Given the description of an element on the screen output the (x, y) to click on. 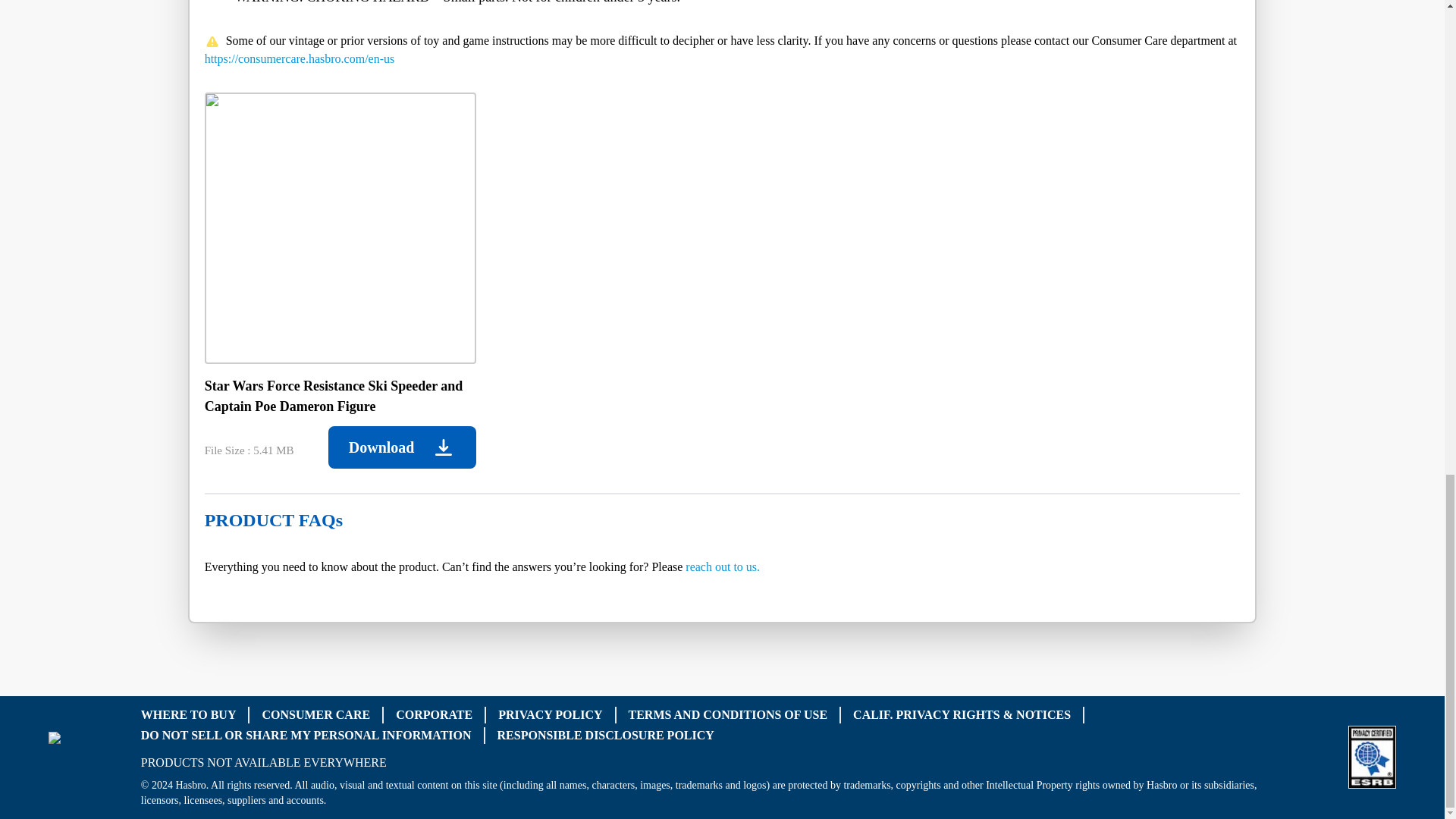
Download (402, 446)
CONSUMER CARE (315, 714)
TERMS AND CONDITIONS OF USE (728, 714)
DO NOT SELL OR SHARE MY PERSONAL INFORMATION (306, 734)
reach out to us. (722, 566)
WHERE TO BUY (188, 714)
RESPONSIBLE DISCLOSURE POLICY (605, 734)
CORPORATE (433, 714)
PRIVACY POLICY (549, 714)
